Given the description of an element on the screen output the (x, y) to click on. 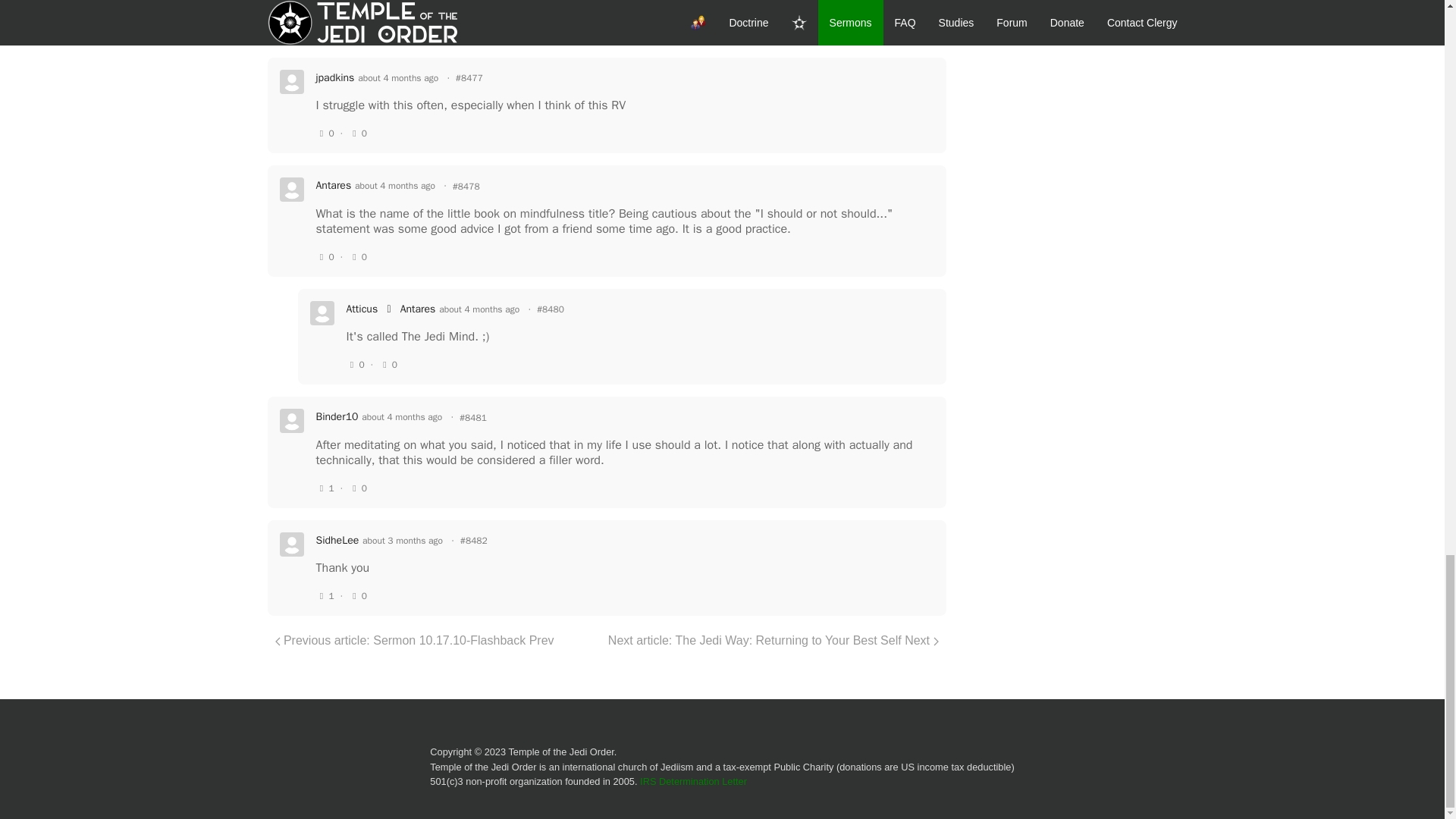
Permalink (473, 417)
Permalink (550, 309)
Binder10 (336, 417)
Permalink (473, 540)
Permalink (469, 77)
More (328, 2)
Antares (332, 185)
SidheLee (336, 540)
Atticus (361, 309)
Permalink (466, 186)
